Given the description of an element on the screen output the (x, y) to click on. 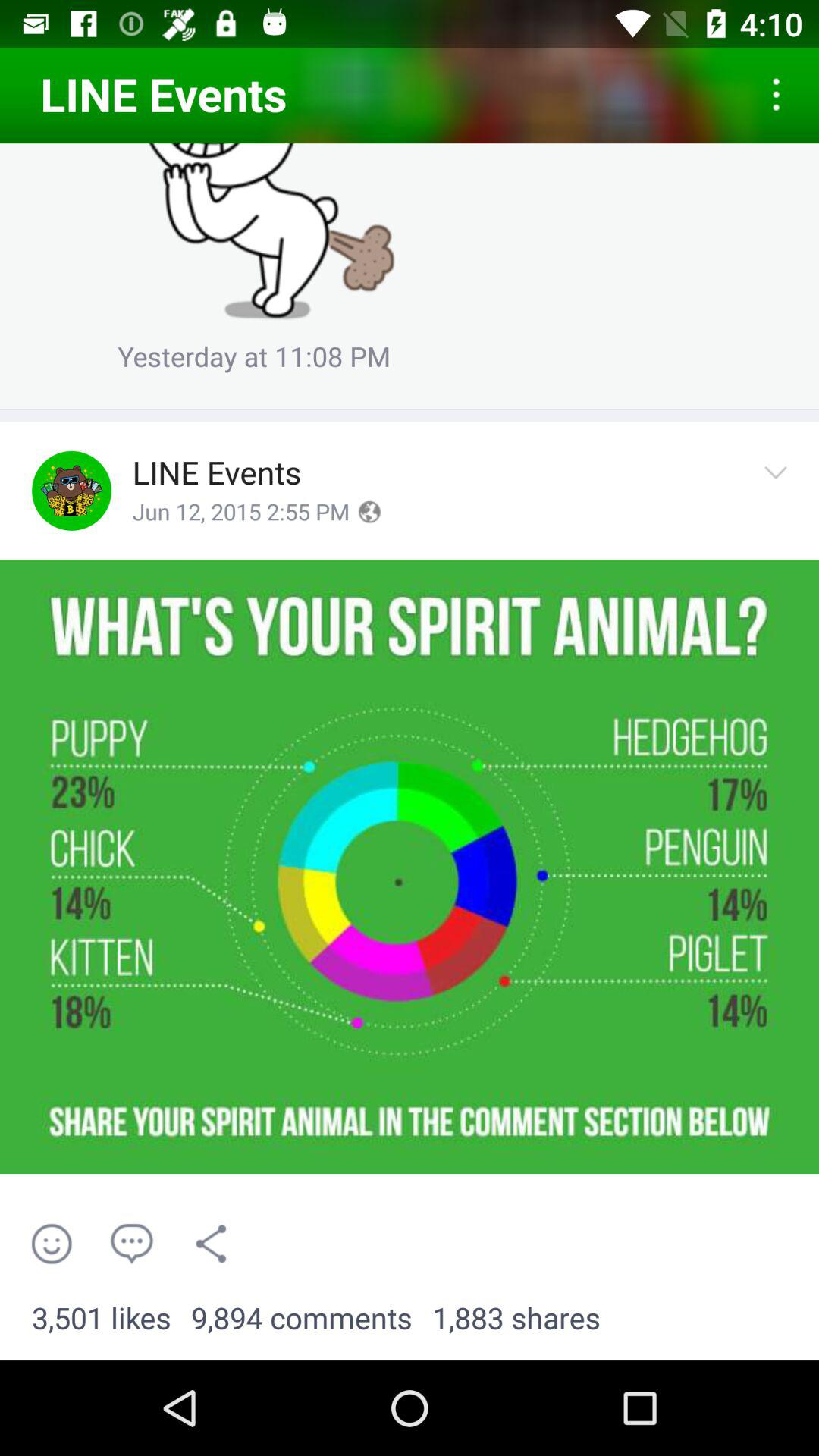
select item below the line events item (240, 512)
